Given the description of an element on the screen output the (x, y) to click on. 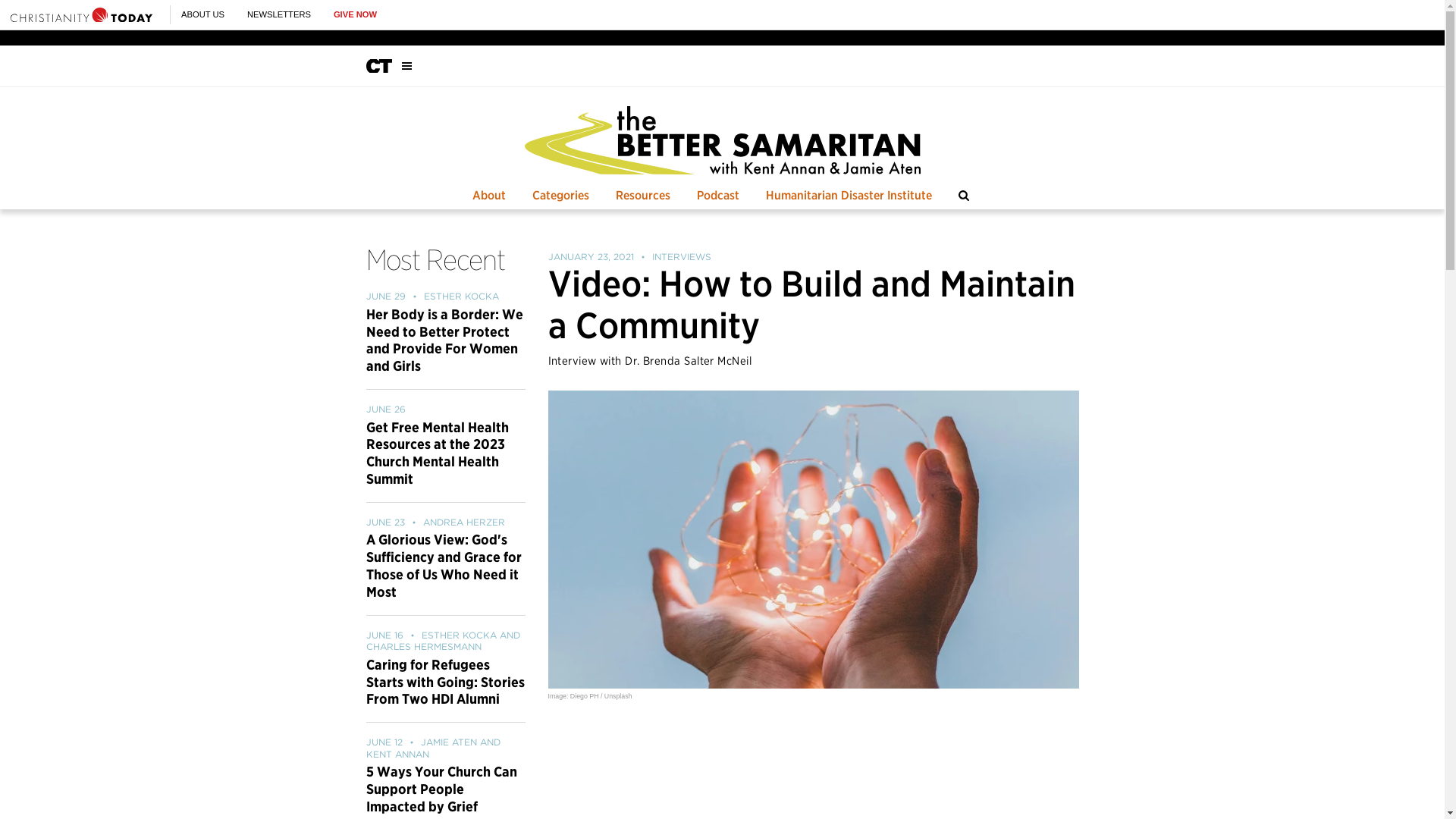
NEWSLETTERS (278, 14)
The Better Samaritan with Jamie Aten and Kent Annan (722, 139)
ABOUT US (202, 14)
Christianity Today (81, 14)
GIVE NOW (355, 14)
